Given the description of an element on the screen output the (x, y) to click on. 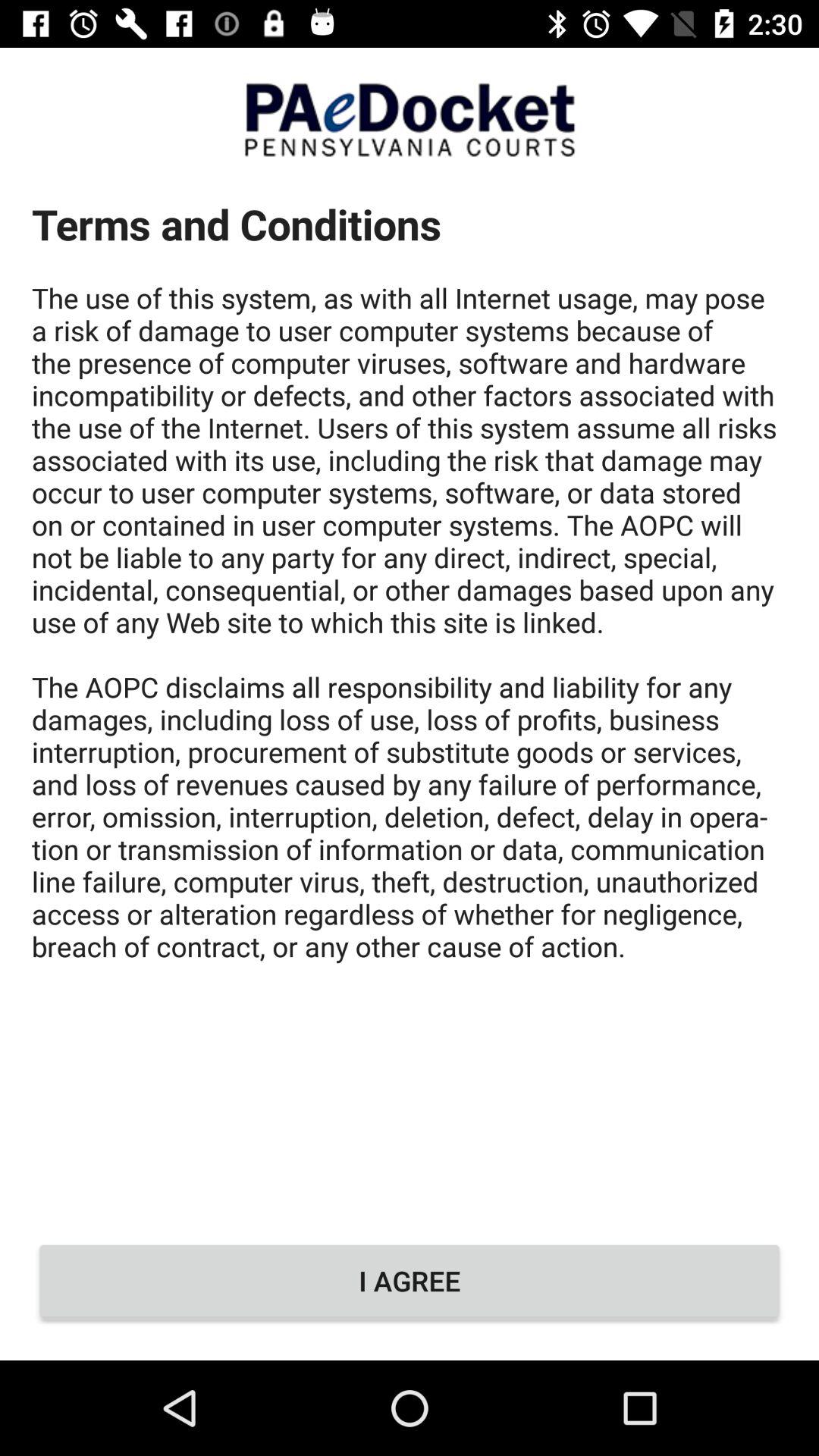
tap icon above i agree icon (409, 696)
